Given the description of an element on the screen output the (x, y) to click on. 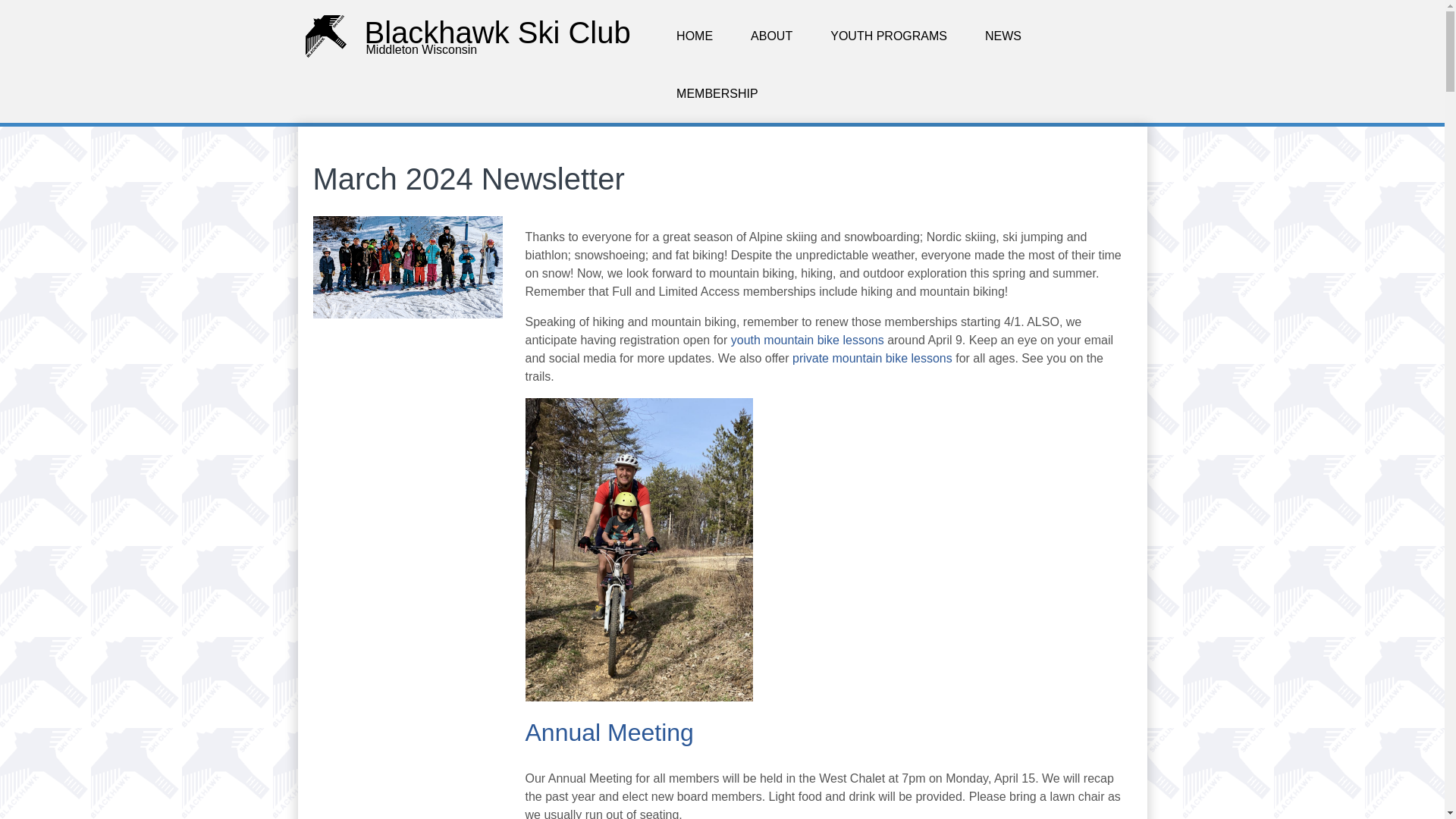
NEWS (1003, 36)
MEMBERSHIP (717, 93)
YOUTH PROGRAMS (888, 36)
March 2024 Newsletter (407, 314)
Blackhawk Ski Club (497, 32)
HOME (695, 36)
ABOUT (771, 36)
Home (497, 32)
